Given the description of an element on the screen output the (x, y) to click on. 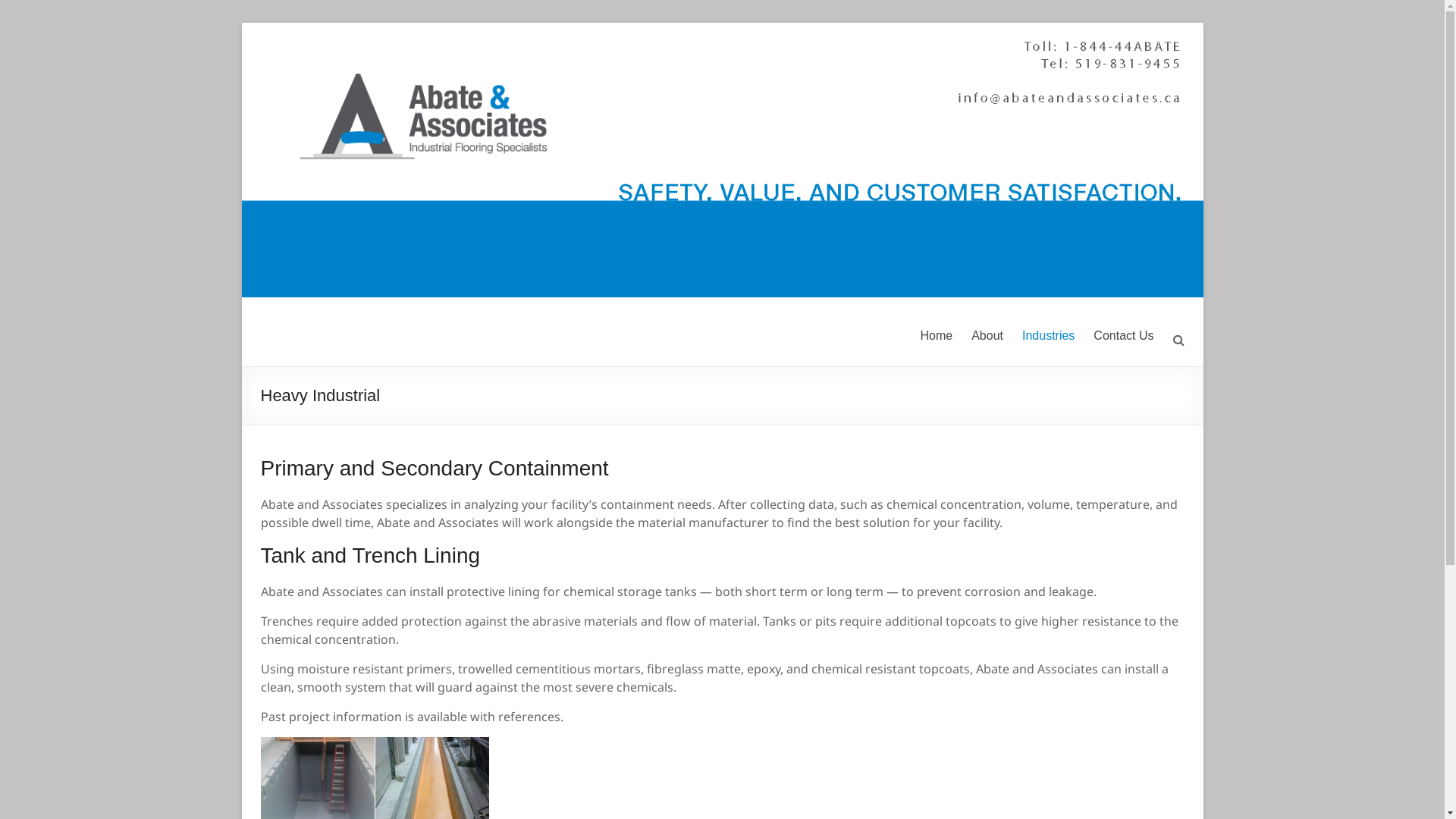
About Element type: text (987, 335)
Home Element type: text (935, 335)
Contact Us Element type: text (1123, 335)
Skip to content Element type: text (241, 21)
Abates & Associates Element type: text (325, 343)
Industries Element type: text (1048, 335)
